Given the description of an element on the screen output the (x, y) to click on. 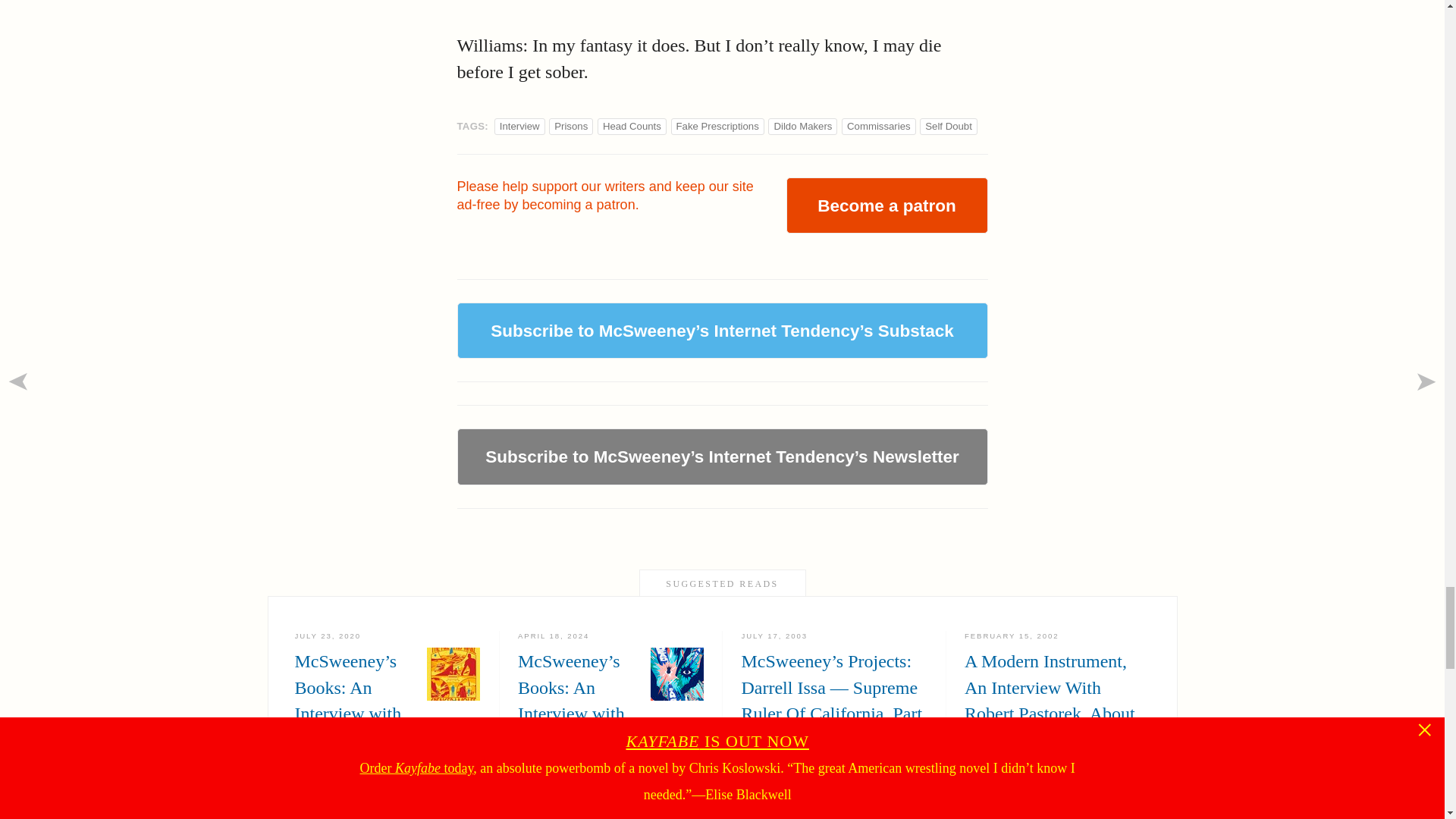
Interview (519, 125)
Self Doubt (948, 125)
Head Counts (631, 125)
Dildo Makers (802, 125)
Prisons (571, 125)
Commissaries (879, 125)
Become a patron (886, 205)
Fake Prescriptions (717, 125)
